Given the description of an element on the screen output the (x, y) to click on. 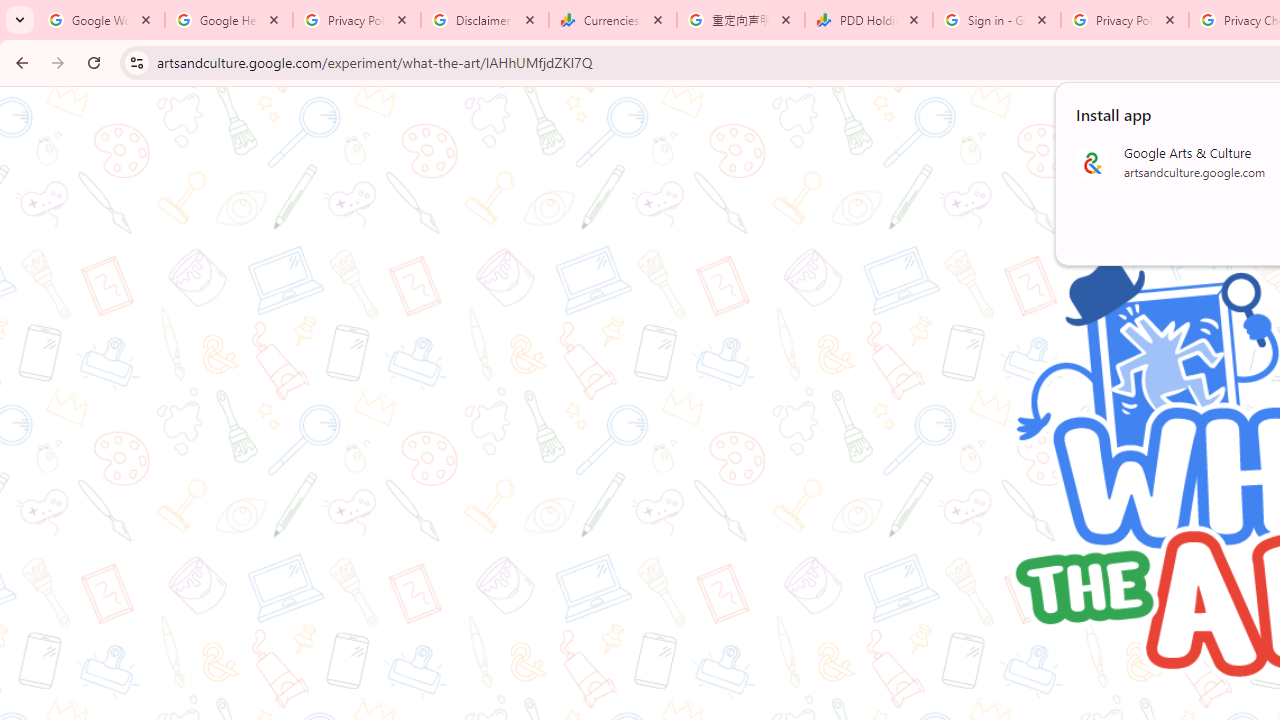
Currencies - Google Finance (613, 20)
PDD Holdings Inc - ADR (PDD) Price & News - Google Finance (869, 20)
Sign in - Google Accounts (997, 20)
